Given the description of an element on the screen output the (x, y) to click on. 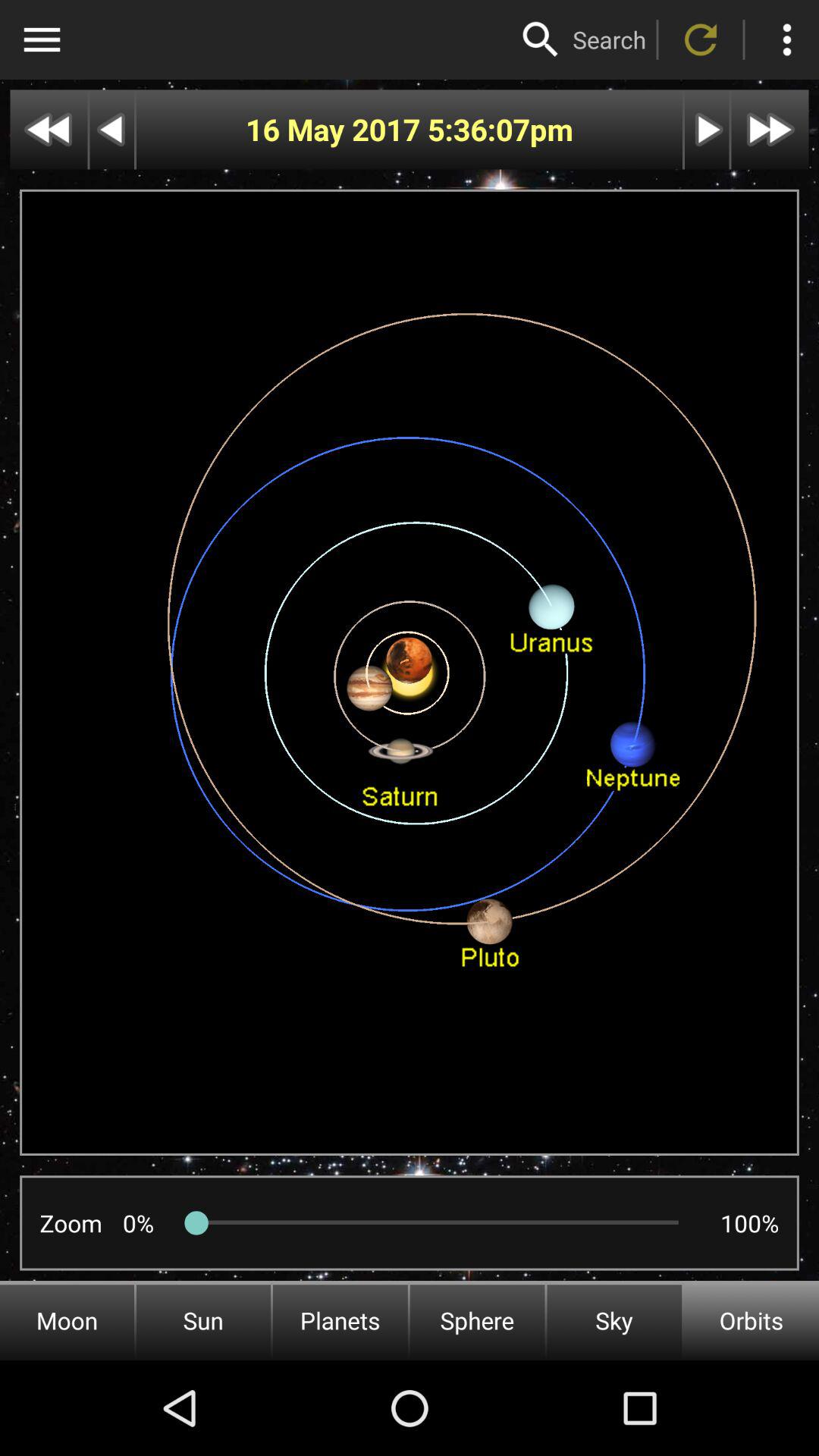
choose icon next to 16 may 2017  icon (478, 129)
